Given the description of an element on the screen output the (x, y) to click on. 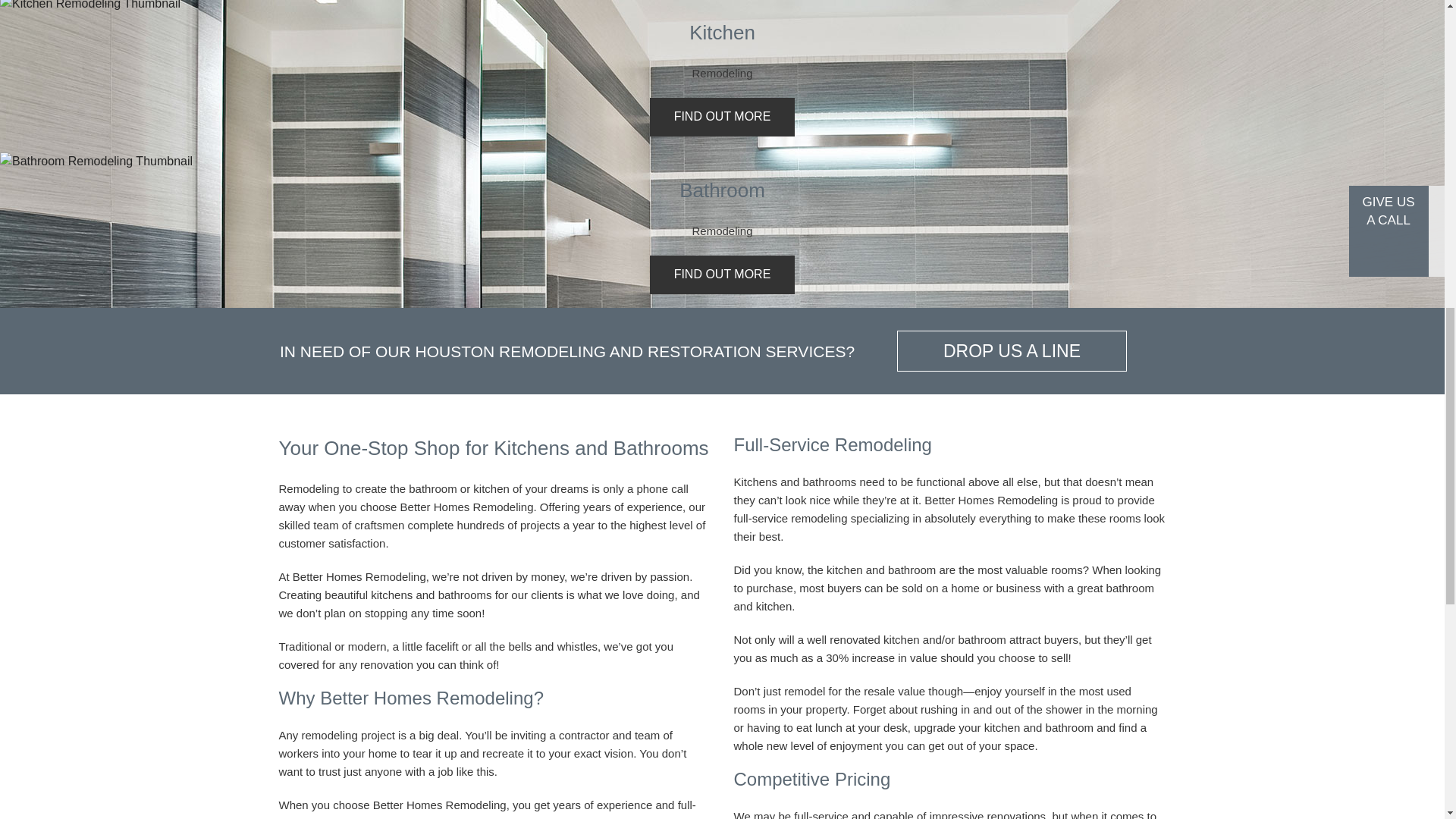
DROP US A LINE (1011, 350)
FIND OUT MORE (721, 116)
FIND OUT MORE (721, 274)
